Given the description of an element on the screen output the (x, y) to click on. 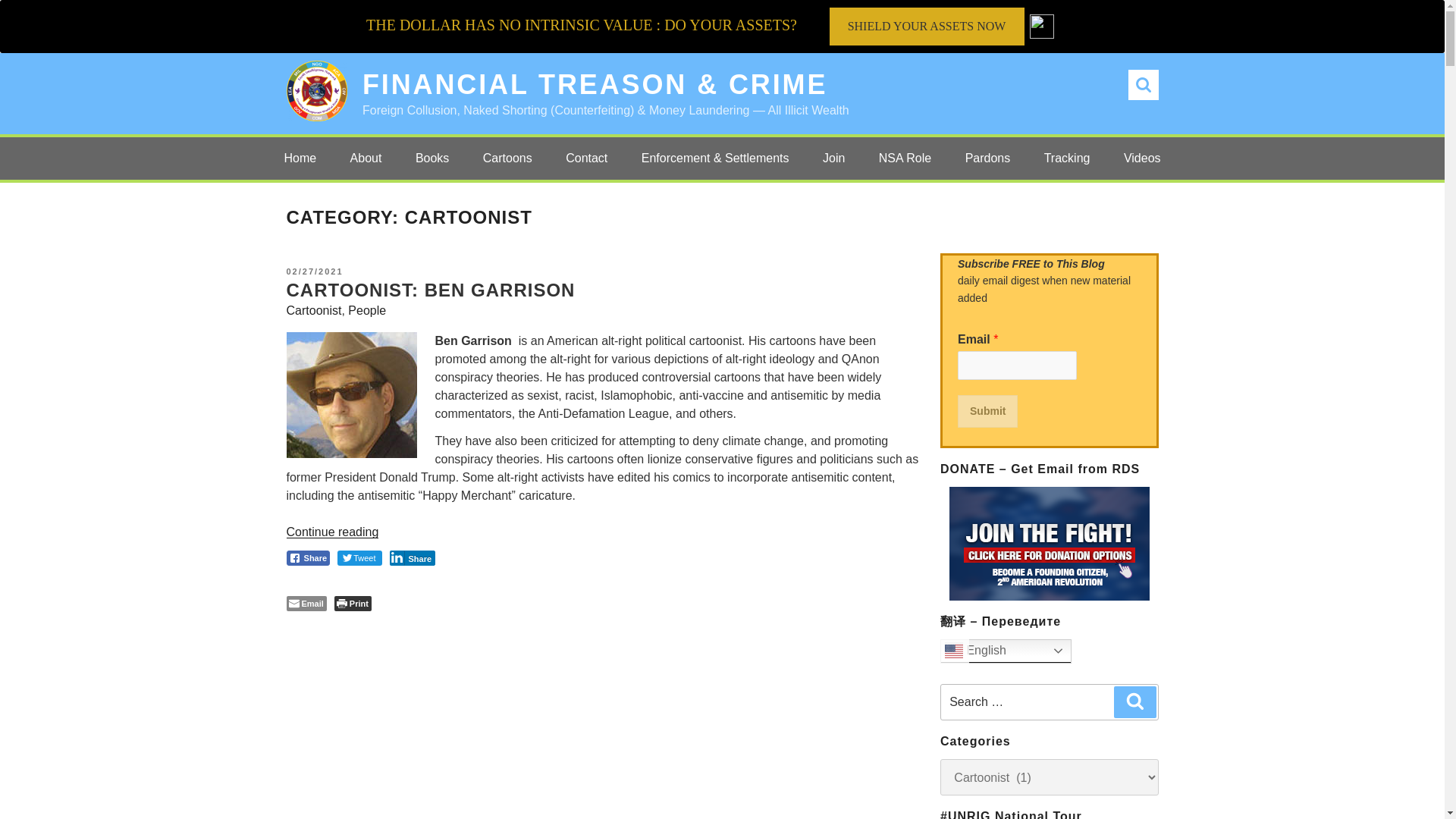
Share (308, 557)
Tracking (1067, 158)
Cartoonist (314, 309)
Cartoons (507, 158)
Home (299, 158)
Videos (1142, 158)
Pardons (988, 158)
Submit (987, 410)
CARTOONIST: BEN GARRISON (430, 290)
Tweet (359, 557)
Join (834, 158)
Contact (586, 158)
DONATE - Get Email from RDS (1049, 543)
Books (432, 158)
Print (352, 603)
